Given the description of an element on the screen output the (x, y) to click on. 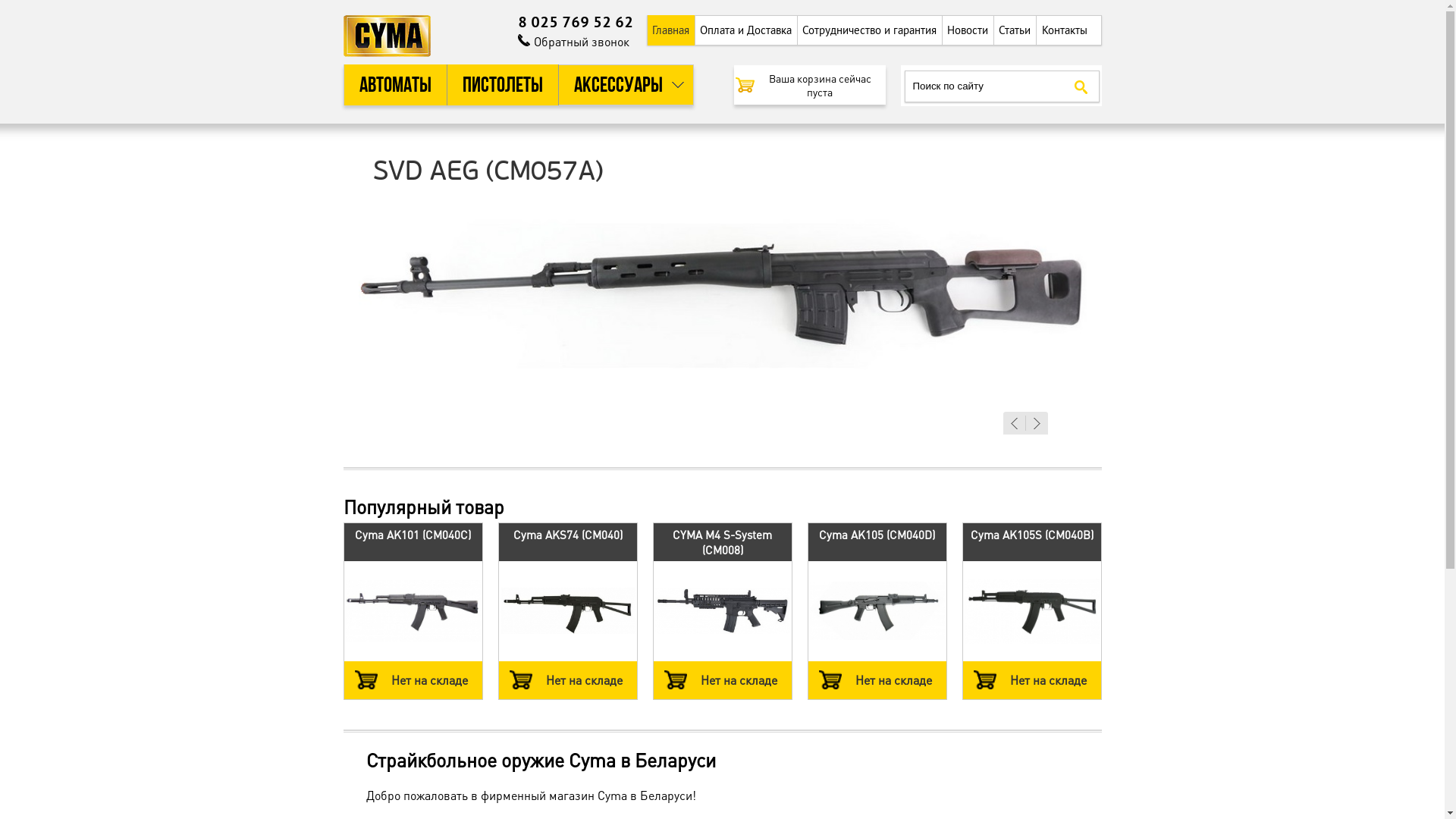
Cyma AK105S (CM040B) Element type: text (1031, 534)
Cyma AKS74 (CM040) Element type: text (566, 534)
Next Element type: text (1036, 422)
CYMA M4 S-System (CM008) Element type: text (721, 542)
Cyma AK105 (CM040D) Element type: text (877, 534)
Previous Element type: text (1013, 422)
Cyma AK101 (CM040C) Element type: text (412, 534)
